Given the description of an element on the screen output the (x, y) to click on. 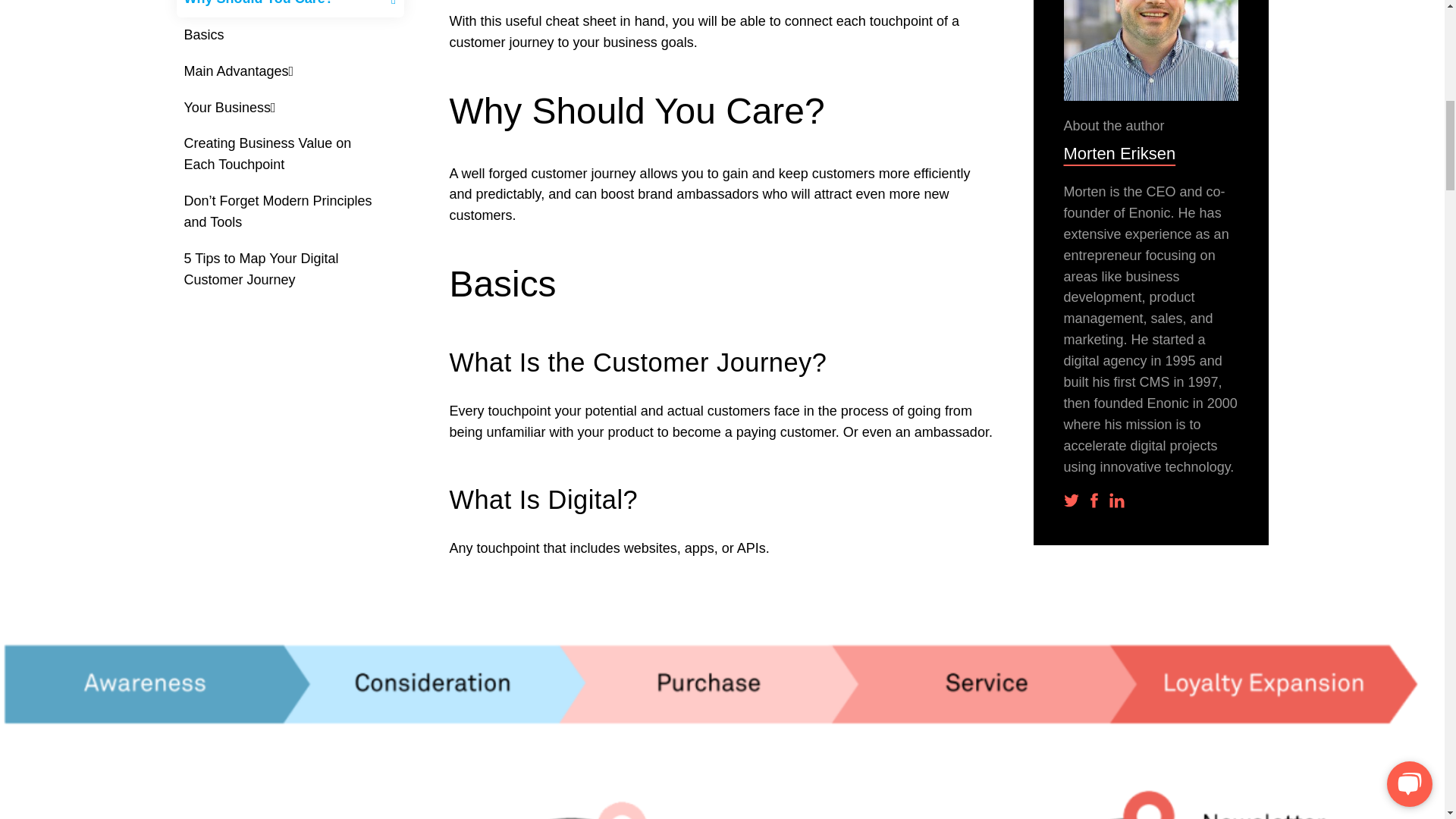
Why Should You Care? (289, 8)
Basics (289, 35)
Morten Eriksen (1149, 152)
Creating Business Value on Each Touchpoint (289, 154)
5 Tips to Map Your Digital Customer Journey (289, 269)
